Given the description of an element on the screen output the (x, y) to click on. 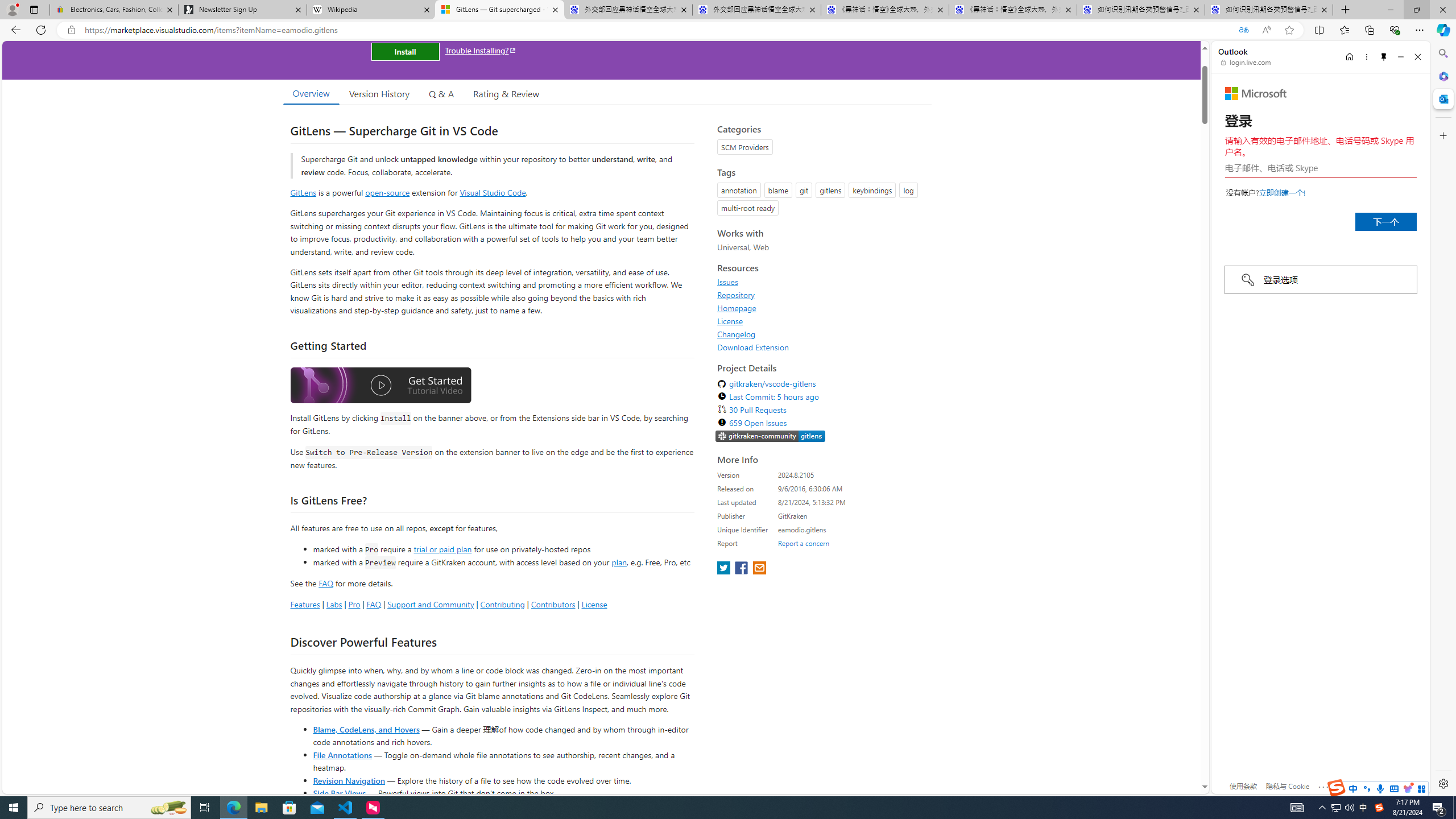
https://slack.gitkraken.com// (769, 436)
Visual Studio Code (492, 192)
Q & A (441, 92)
Changelog (820, 333)
Features (304, 603)
Newsletter Sign Up (242, 9)
